Given the description of an element on the screen output the (x, y) to click on. 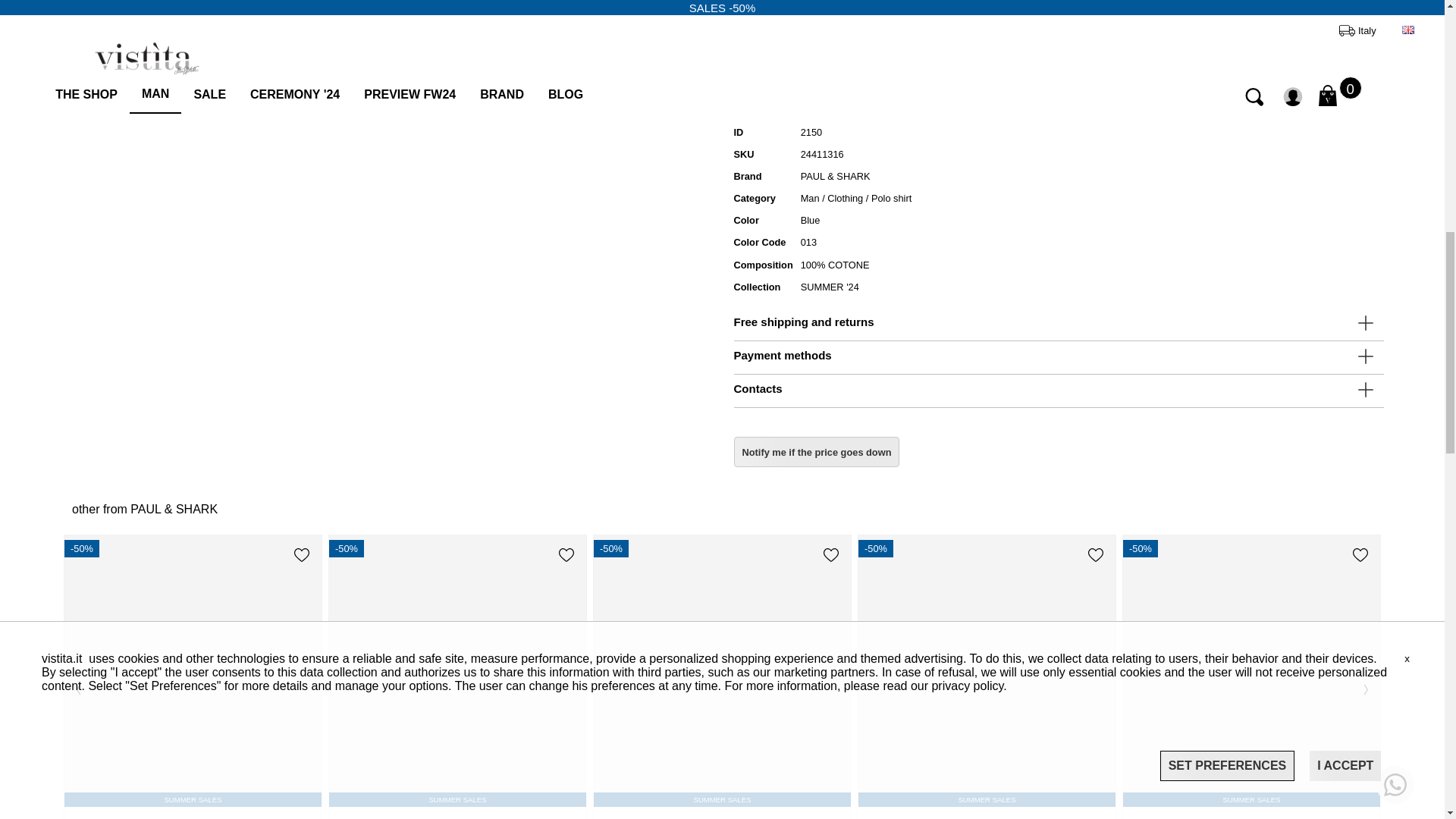
whatsapp (815, 43)
twitter (873, 43)
facebook (844, 43)
